Given the description of an element on the screen output the (x, y) to click on. 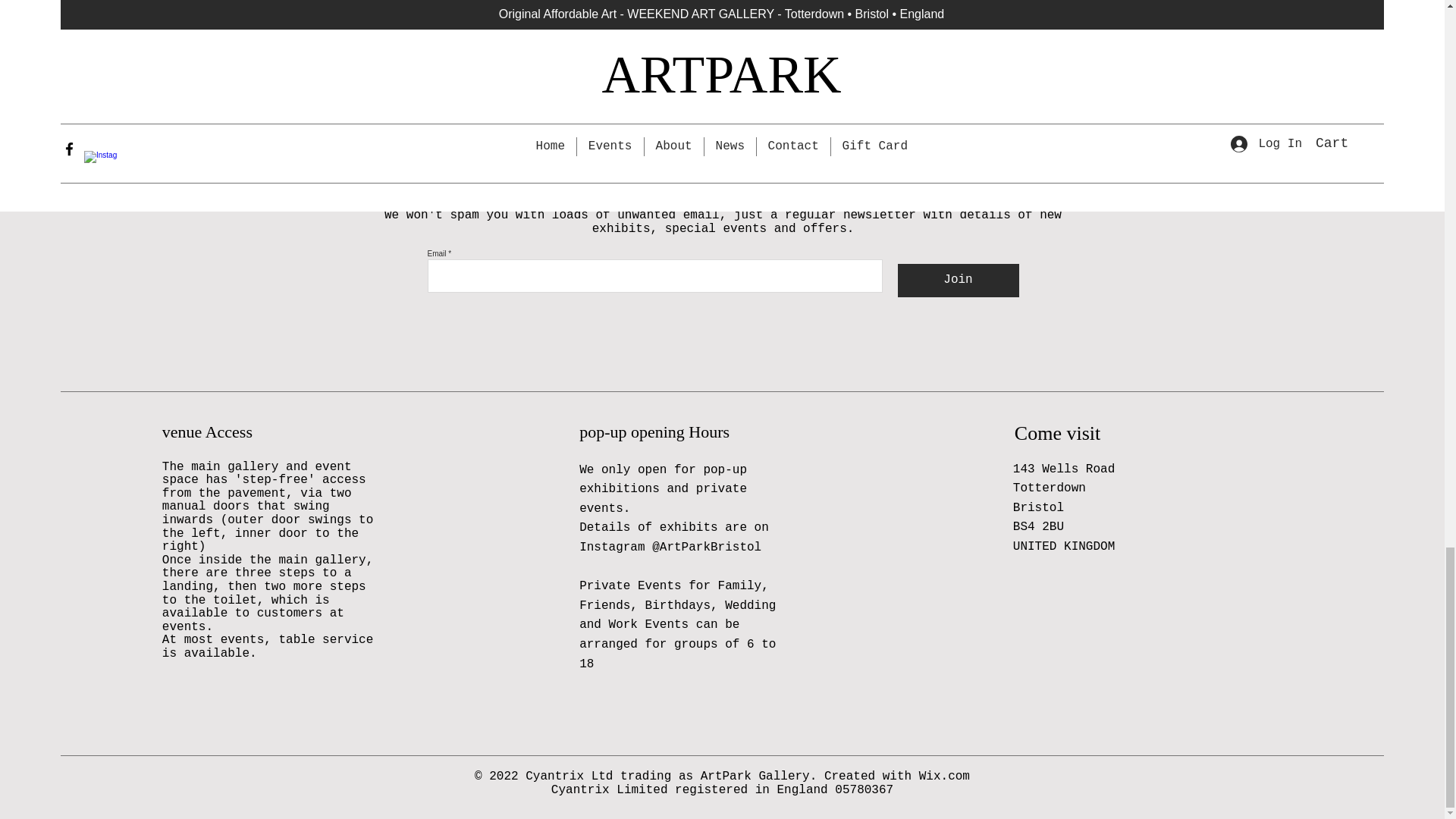
Wix.com (943, 775)
Join (958, 280)
